Given the description of an element on the screen output the (x, y) to click on. 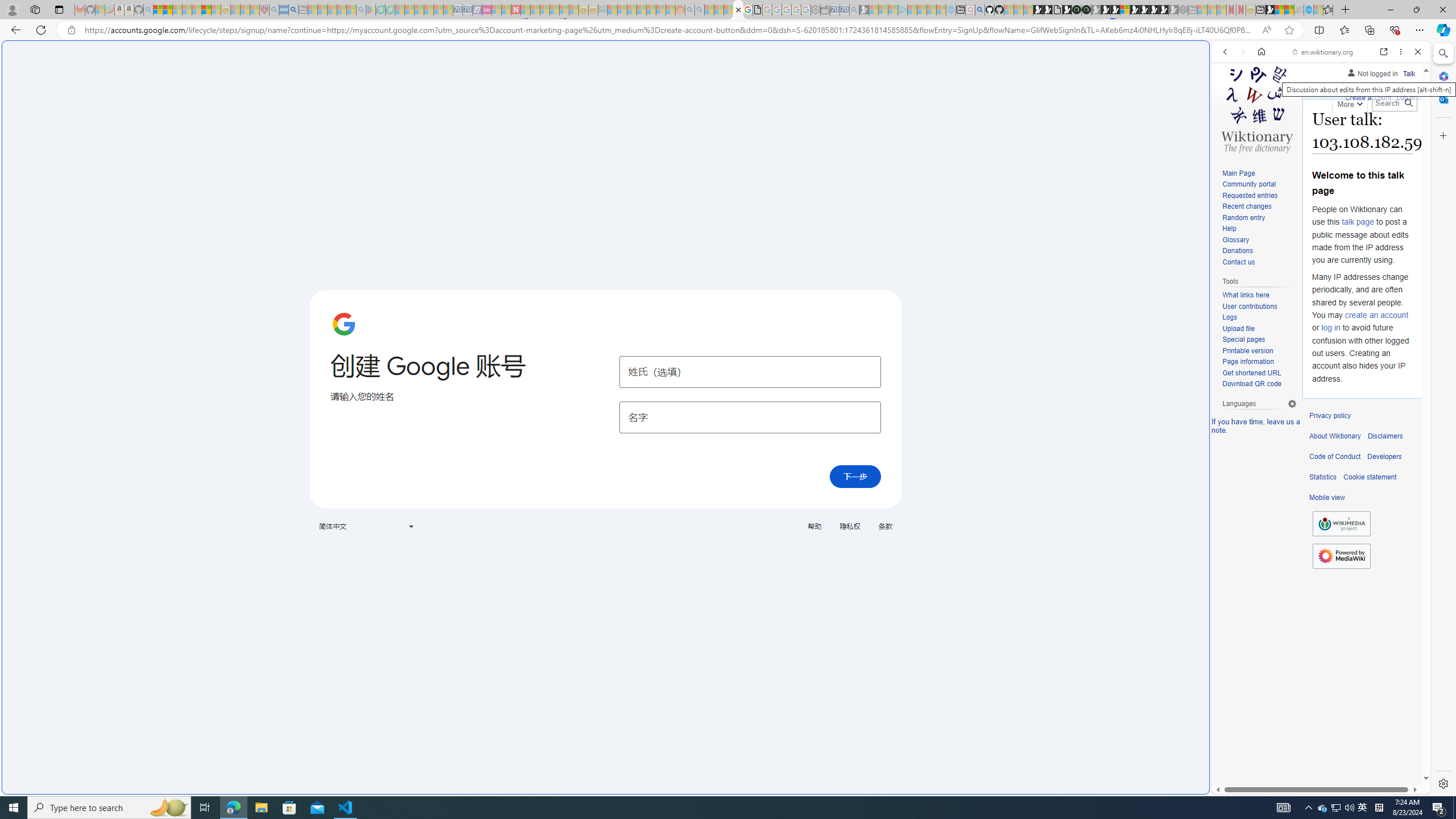
Logs (1259, 317)
Privacy policy (1329, 415)
Frequently visited (965, 151)
Search Wiktionary (1393, 103)
Random entry (1259, 218)
utah sues federal government - Search (292, 9)
